Given the description of an element on the screen output the (x, y) to click on. 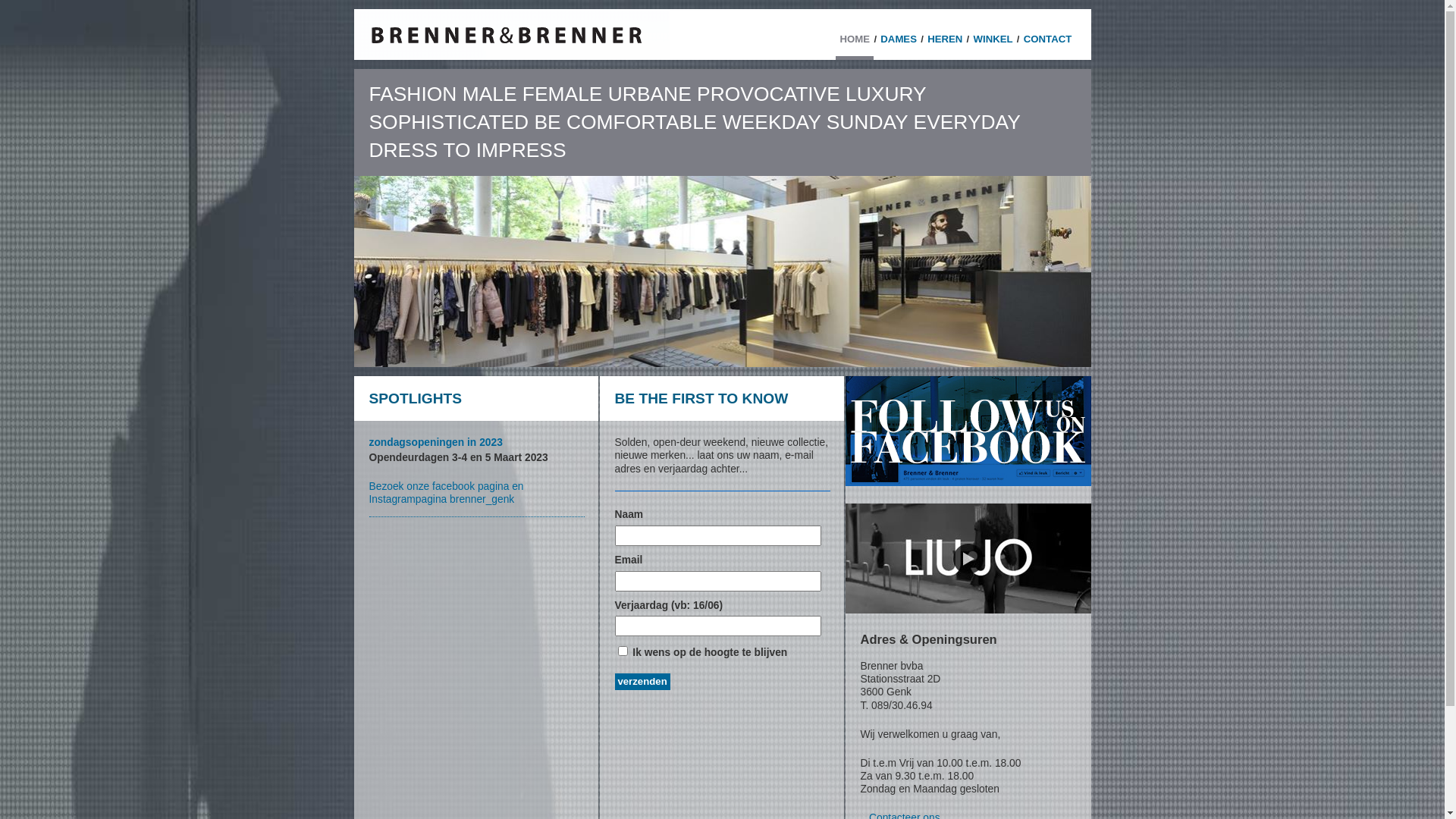
Lio Jo Buttom Up Collection Element type: hover (967, 623)
DAMES Element type: text (898, 43)
HOME Element type: text (854, 45)
CONTACT Element type: text (1047, 43)
link to homepage Element type: hover (510, 34)
Bezoek onze facebook pagina en Instagrampagina brenner_genk Element type: text (475, 493)
WINKEL Element type: text (992, 43)
HEREN Element type: text (944, 43)
verzenden Element type: text (641, 681)
